Given the description of an element on the screen output the (x, y) to click on. 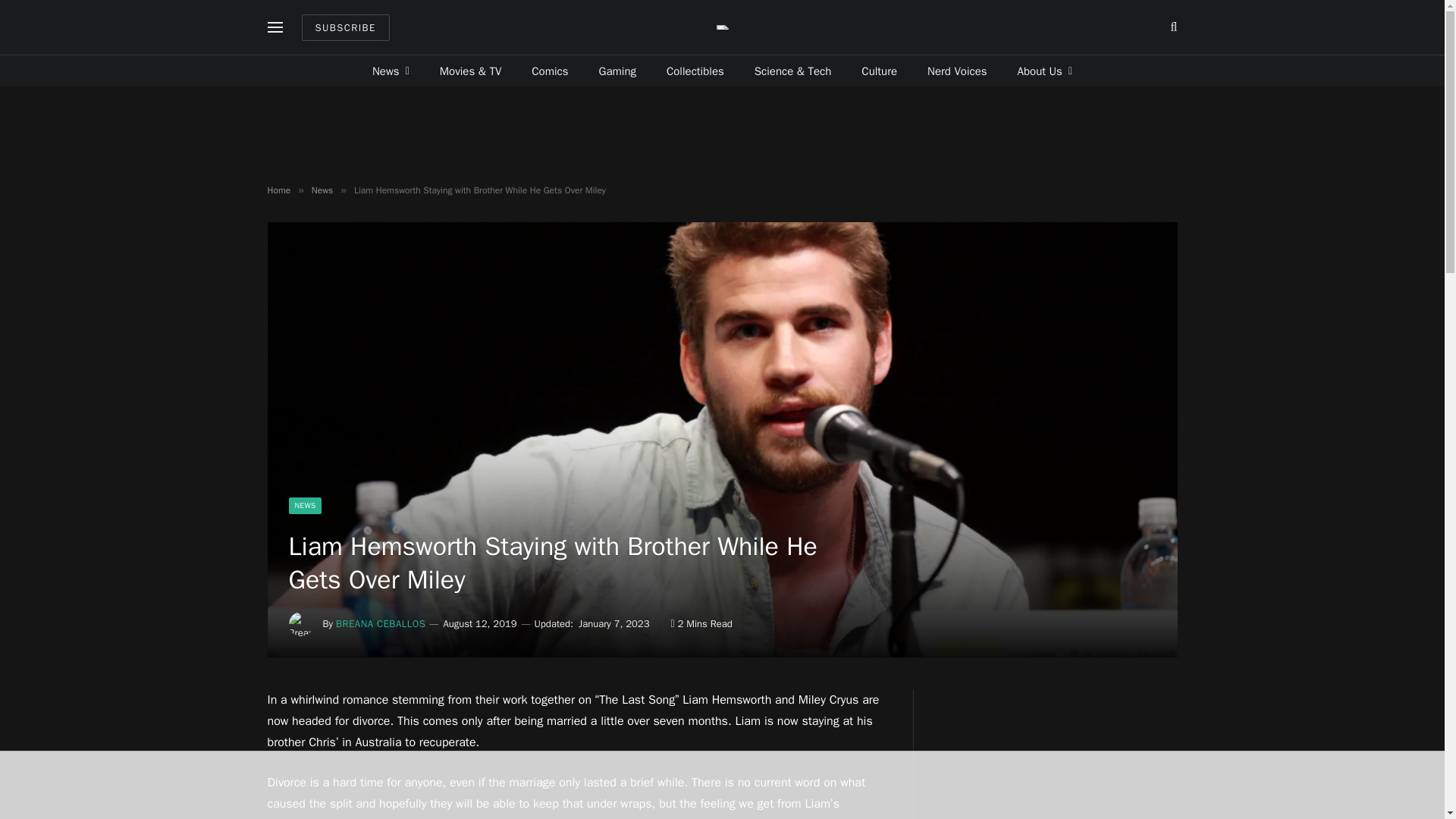
Collectibles (694, 70)
Home (277, 190)
About Us (1045, 70)
BREANA CEBALLOS (380, 623)
Nerd Voices (957, 70)
News (390, 70)
Gaming (616, 70)
Culture (878, 70)
Comics (549, 70)
